Given the description of an element on the screen output the (x, y) to click on. 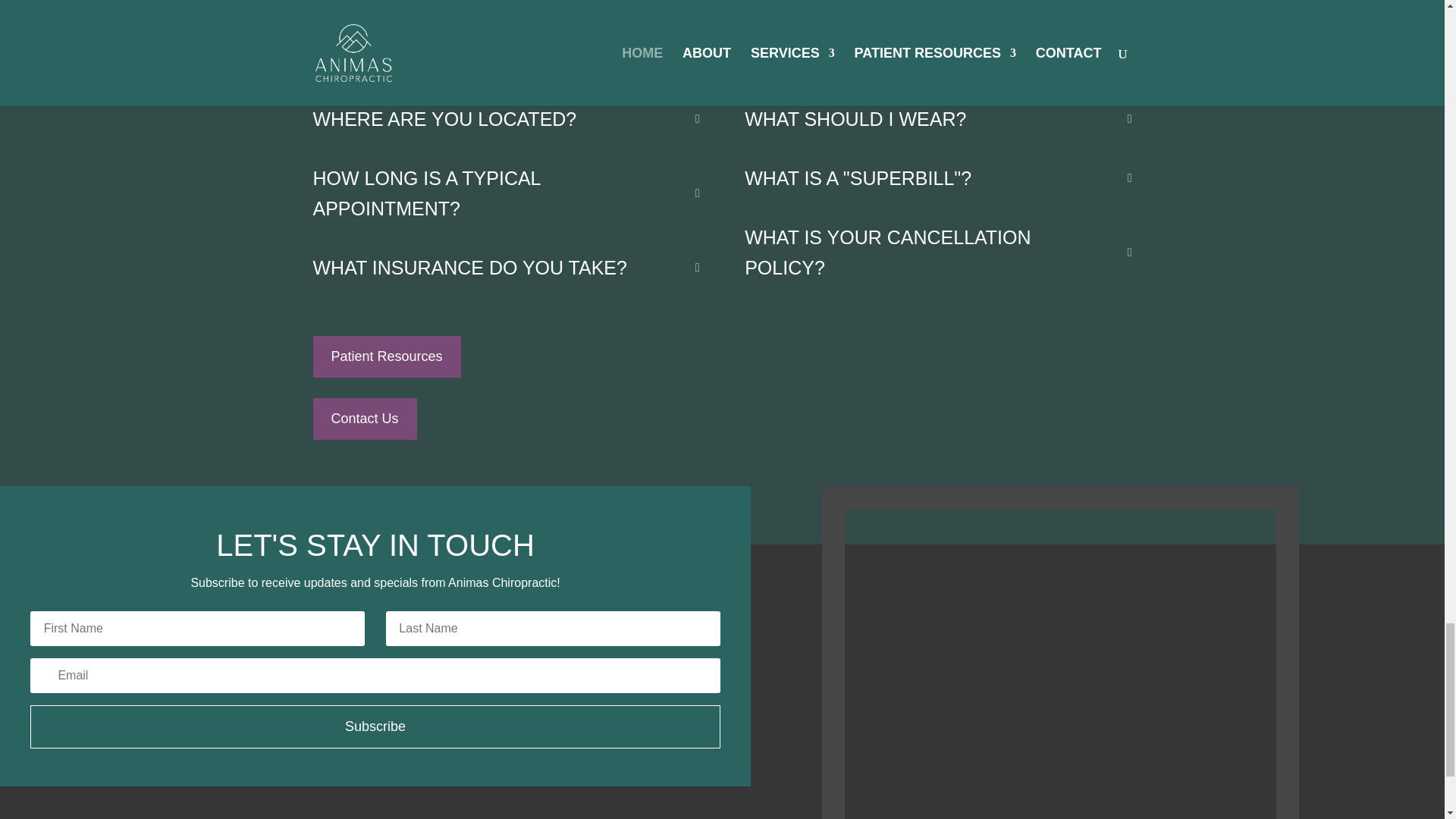
Contact Us (364, 418)
Subscribe (375, 726)
Patient Resources (386, 356)
